Given the description of an element on the screen output the (x, y) to click on. 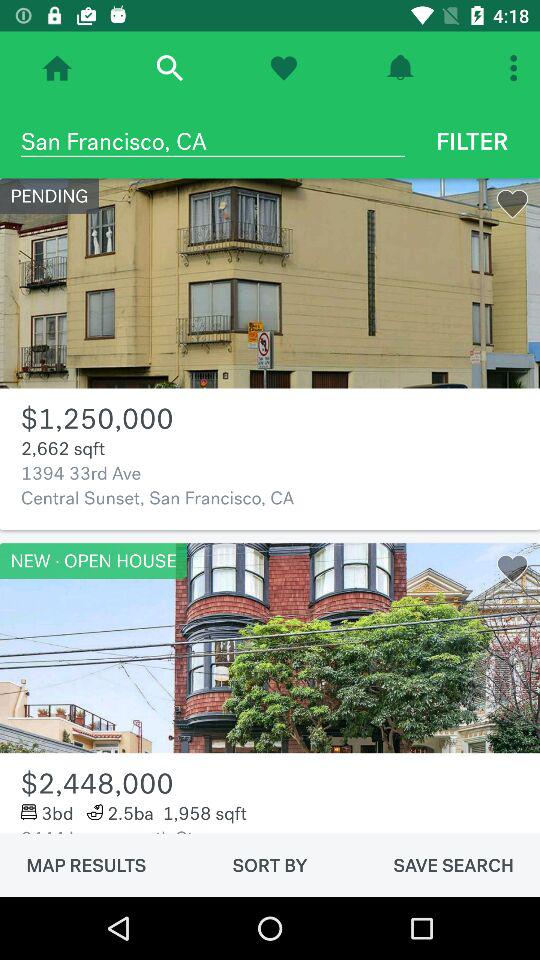
turn on notifications (400, 68)
